Given the description of an element on the screen output the (x, y) to click on. 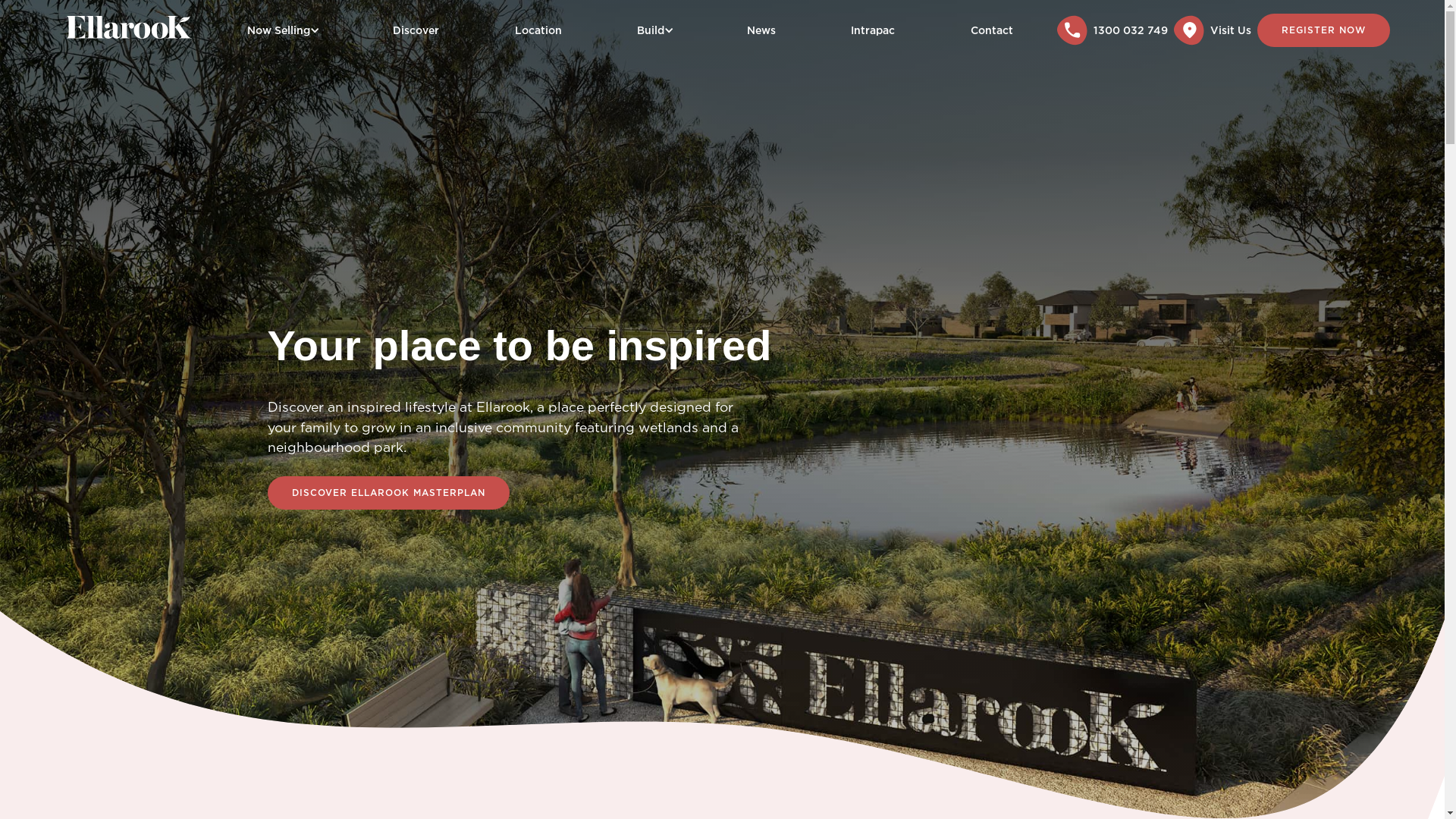
DISCOVER ELLAROOK MASTERPLAN Element type: text (387, 492)
Visit Us Element type: text (1215, 30)
Location Element type: text (537, 30)
Contact Element type: text (991, 30)
Build Element type: text (650, 29)
1300 032 749 Element type: text (1115, 30)
Now Selling Element type: text (278, 29)
REGISTER NOW Element type: text (1323, 30)
News Element type: text (760, 30)
Intrapac Element type: text (872, 30)
Discover Element type: text (415, 30)
